Given the description of an element on the screen output the (x, y) to click on. 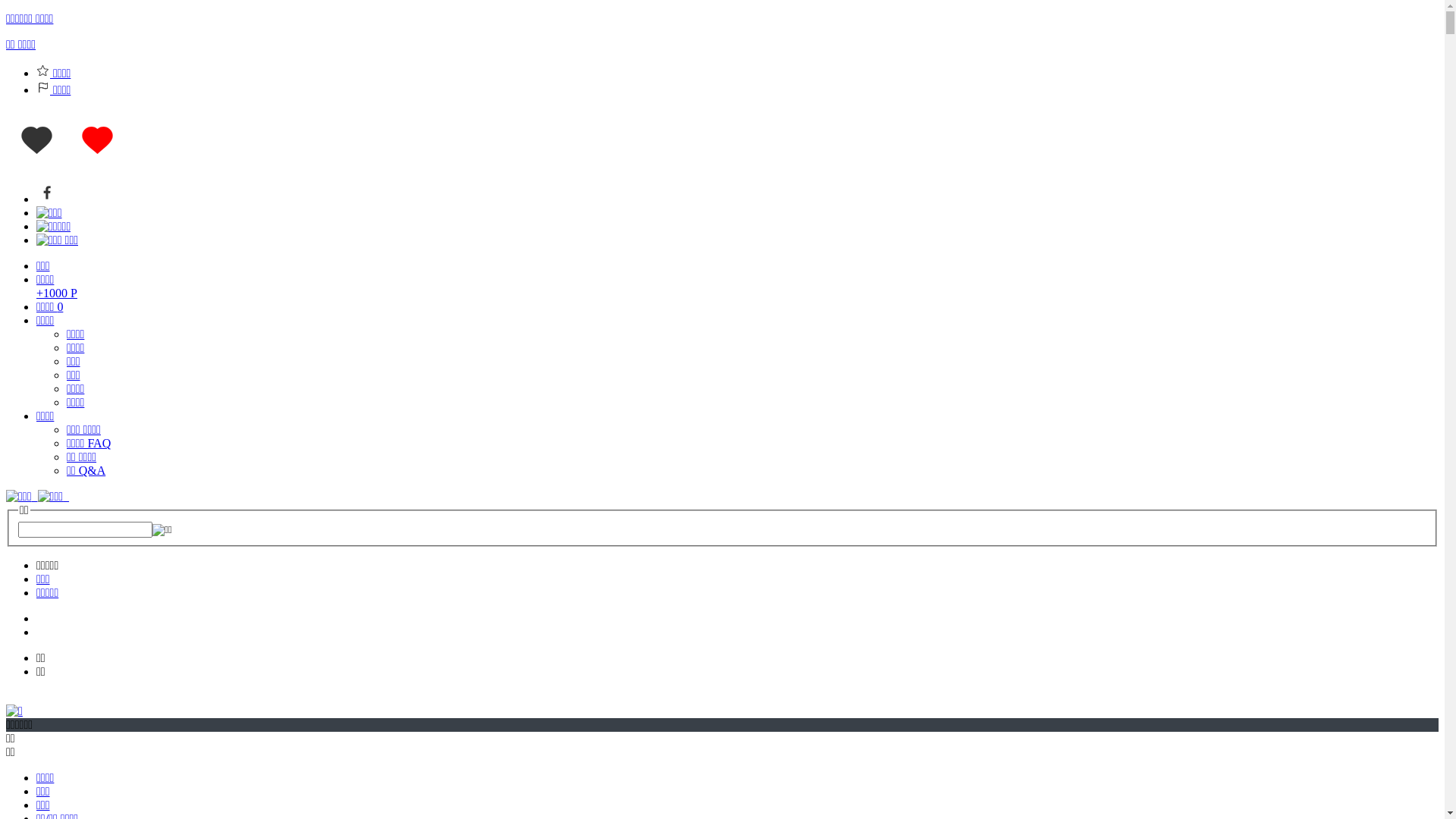
    Element type: text (37, 495)
